Given the description of an element on the screen output the (x, y) to click on. 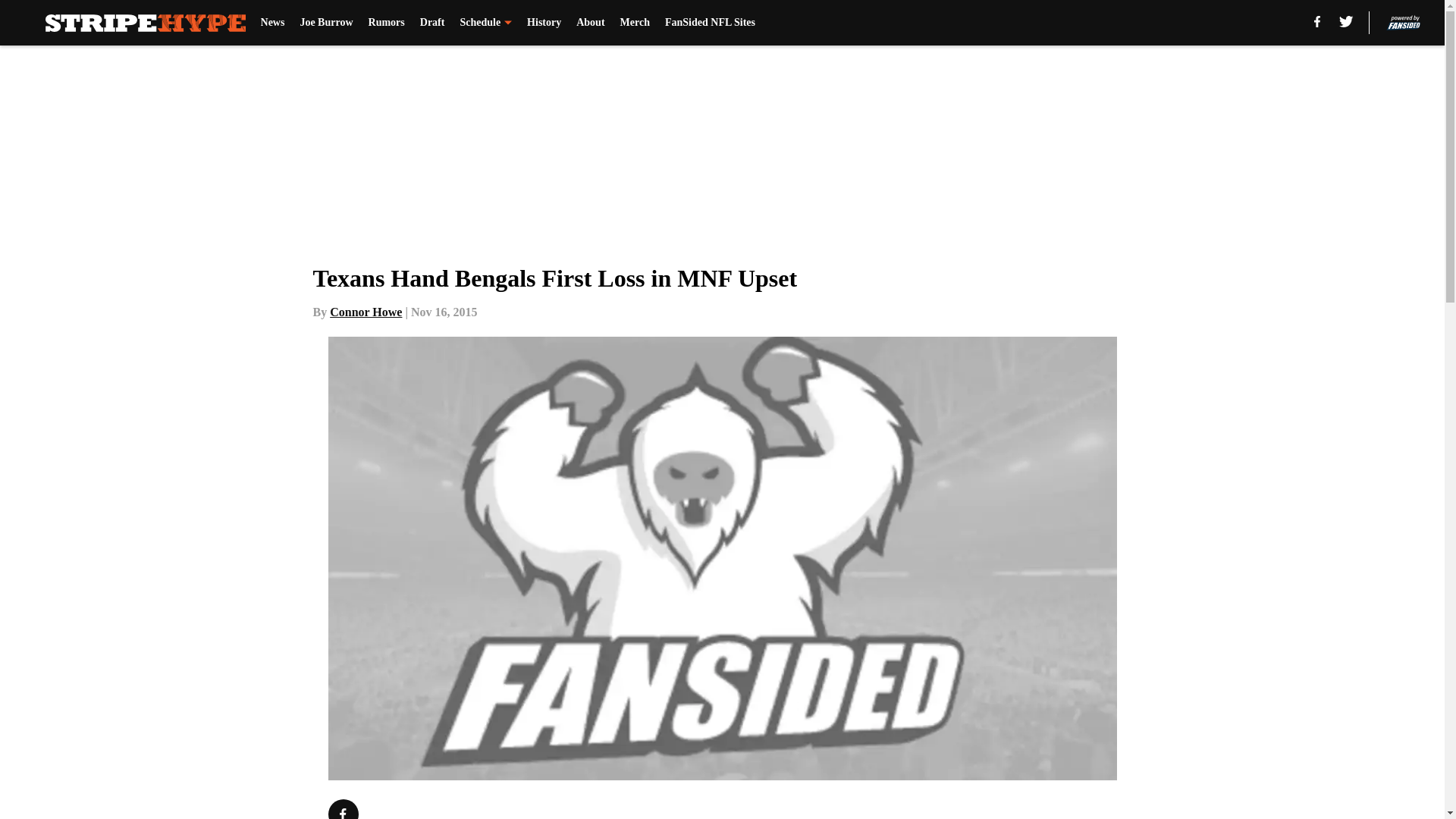
About (590, 22)
Draft (432, 22)
Joe Burrow (325, 22)
News (272, 22)
FanSided NFL Sites (710, 22)
Merch (634, 22)
History (543, 22)
Rumors (386, 22)
Connor Howe (365, 311)
